Given the description of an element on the screen output the (x, y) to click on. 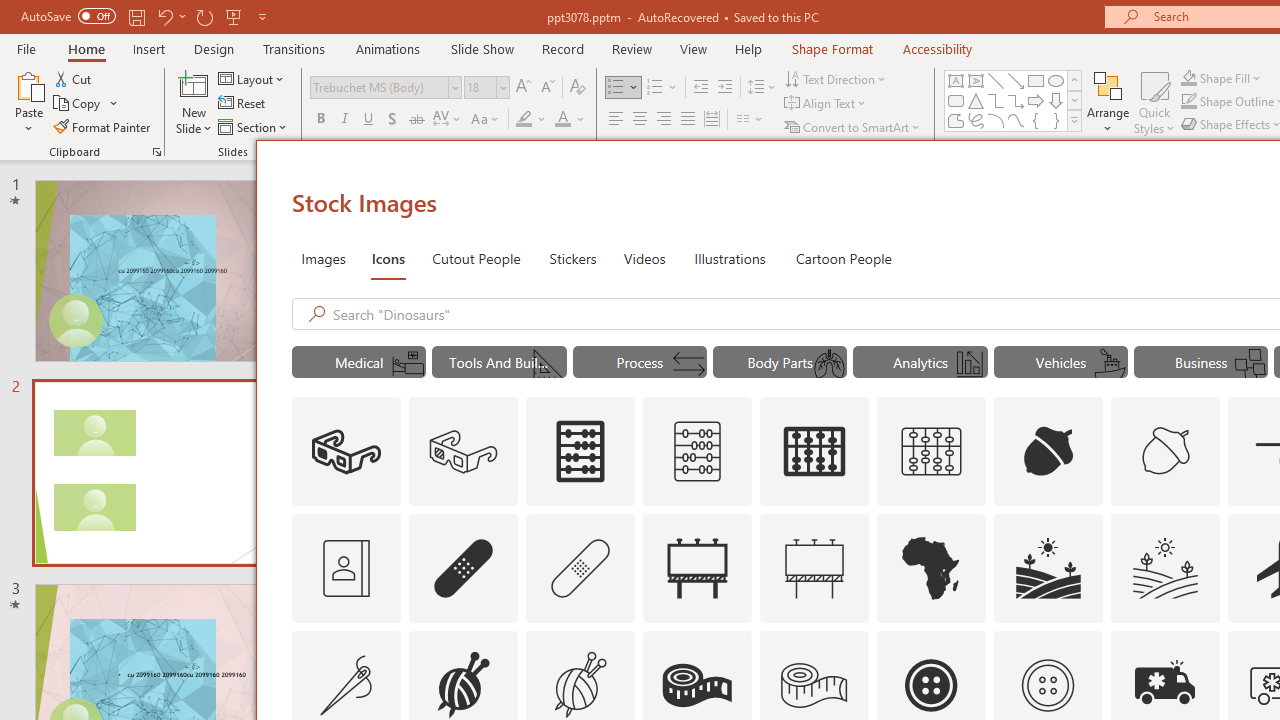
AutomationID: Icons_TriangleRuler_M (549, 364)
AutomationID: Icons_AdhesiveBandage (463, 568)
Videos (644, 258)
Cartoon People (843, 258)
AutomationID: Icons_Abacus_M (697, 452)
